Given the description of an element on the screen output the (x, y) to click on. 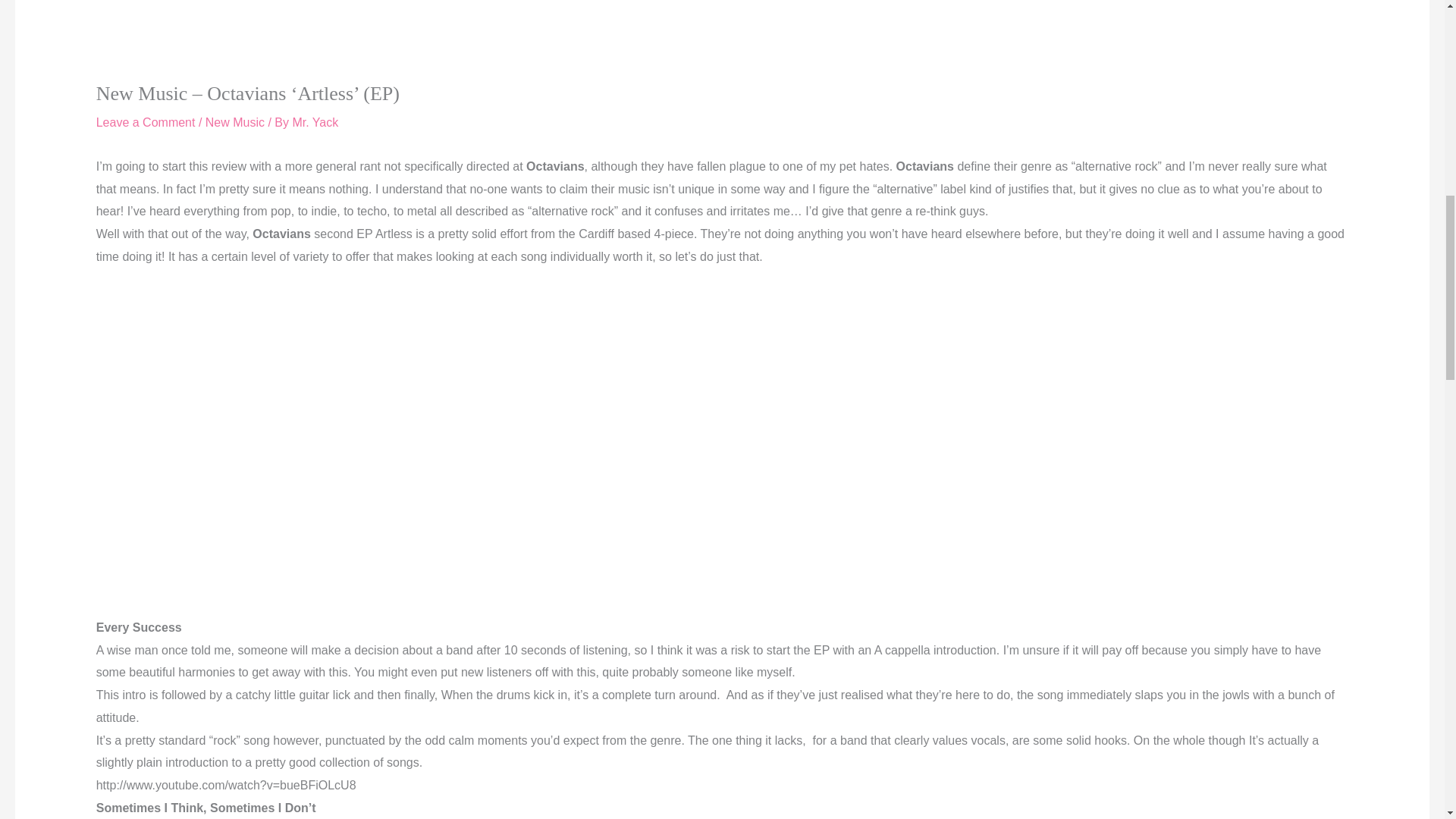
New Music (234, 122)
Mr. Yack (314, 122)
Leave a Comment (145, 122)
View all posts by Mr. Yack (314, 122)
